Given the description of an element on the screen output the (x, y) to click on. 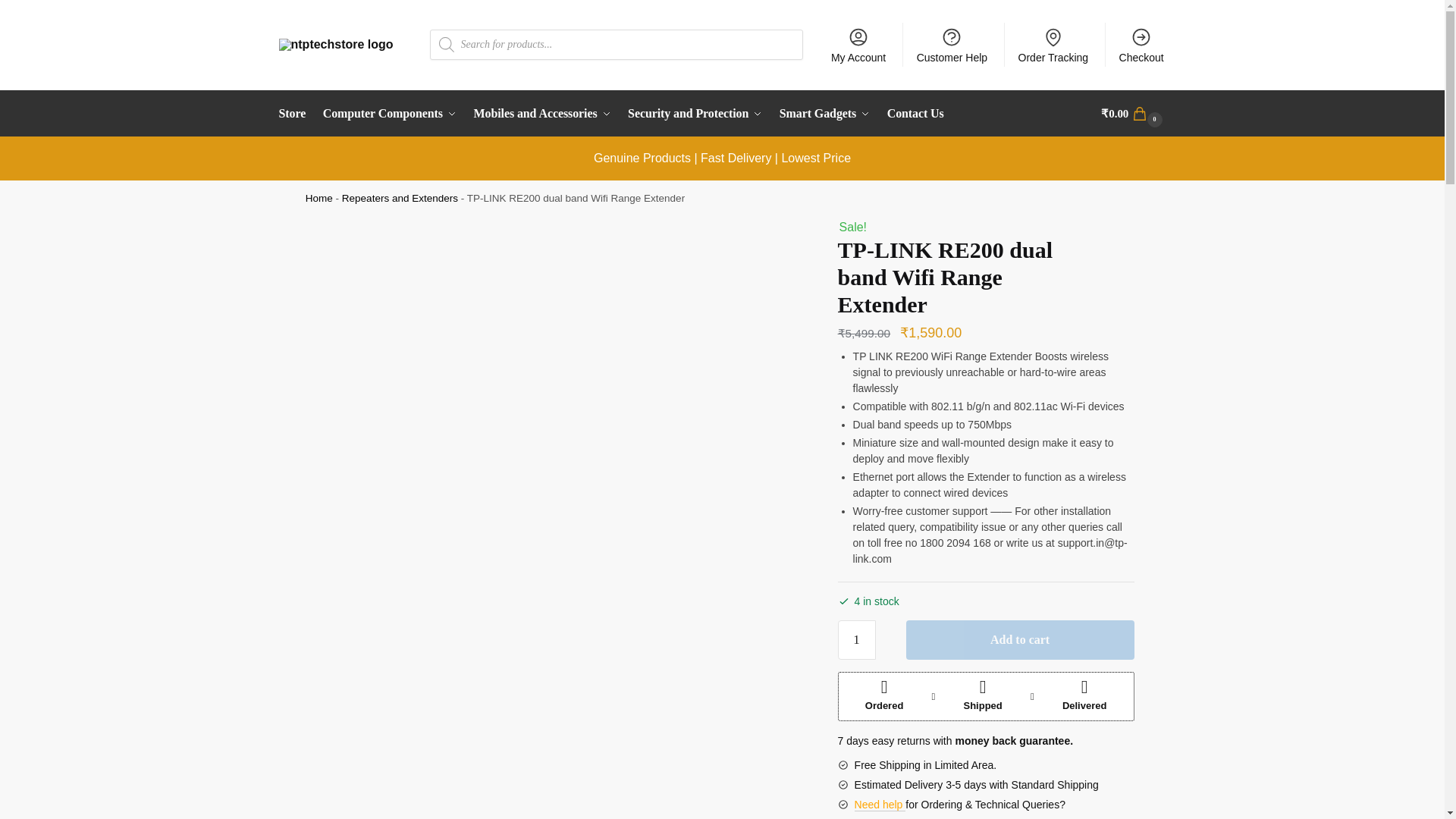
Checkout (1141, 44)
Customer Help (951, 44)
View your shopping cart (1133, 113)
My Account (858, 44)
1 (857, 639)
Computer Components (389, 113)
Order Tracking (1053, 44)
